Given the description of an element on the screen output the (x, y) to click on. 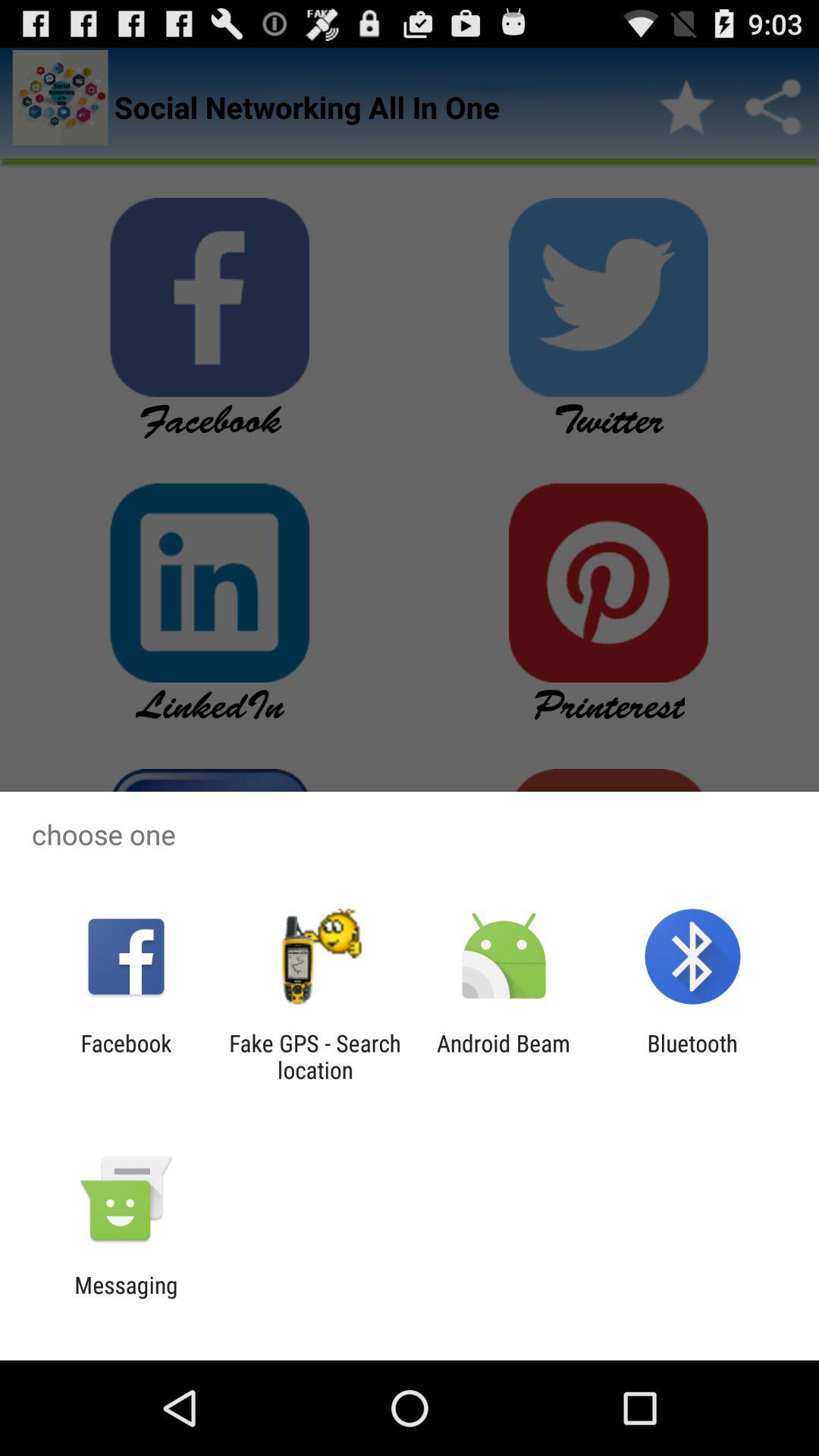
click the messaging app (126, 1298)
